Given the description of an element on the screen output the (x, y) to click on. 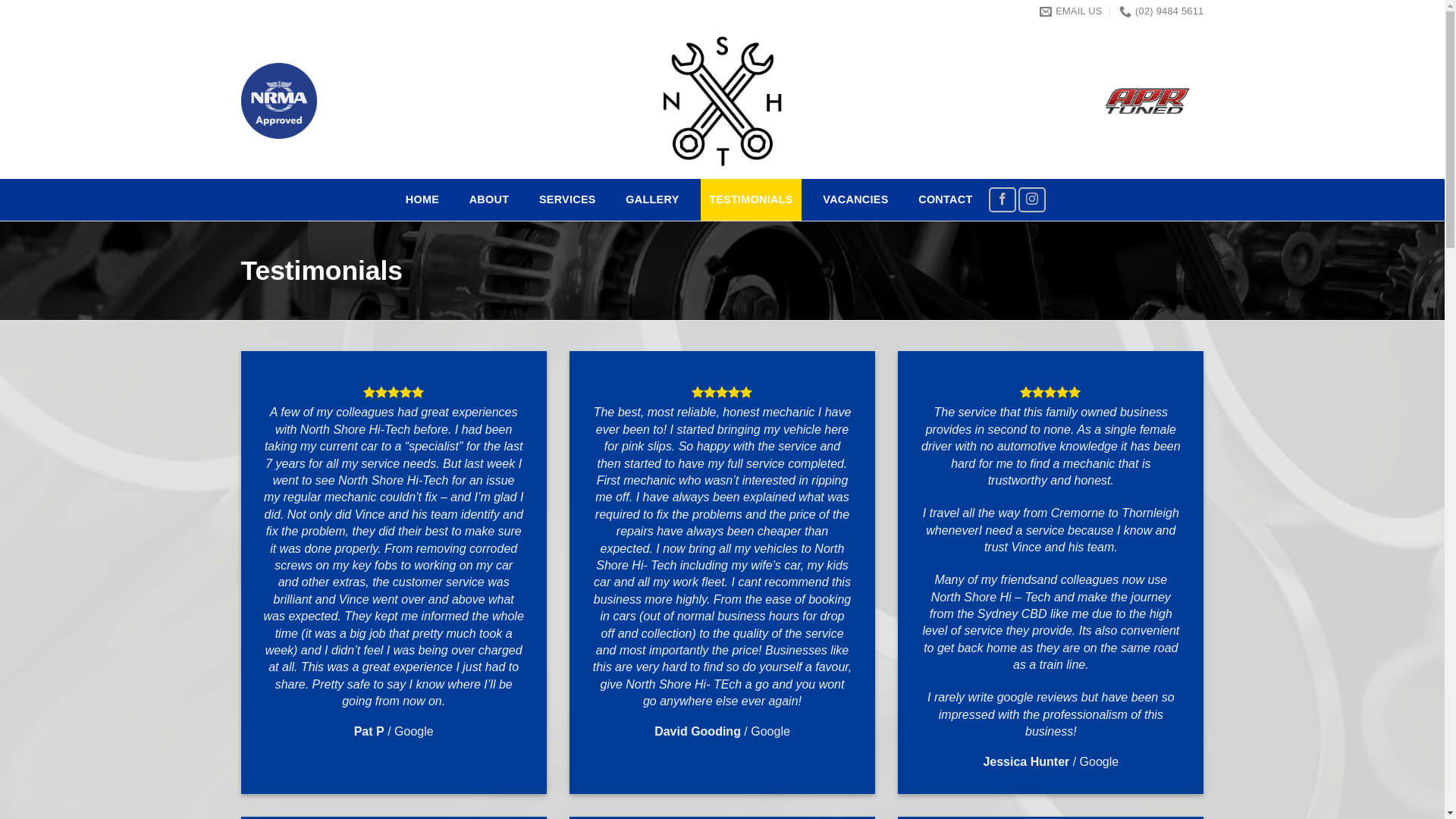
CONTACT Element type: text (945, 199)
Northshore Hi-Tech - Northshore Hi-Tech
 Element type: hover (721, 100)
(02) 9484 5611 Element type: text (1161, 11)
Follow on Facebook Element type: hover (1002, 199)
VACANCIES Element type: text (856, 199)
SERVICES Element type: text (566, 199)
GALLERY Element type: text (652, 199)
HOME Element type: text (422, 199)
ABOUT Element type: text (489, 199)
TESTIMONIALS Element type: text (750, 199)
EMAIL US Element type: text (1070, 11)
Follow on Instagram Element type: hover (1031, 199)
